Given the description of an element on the screen output the (x, y) to click on. 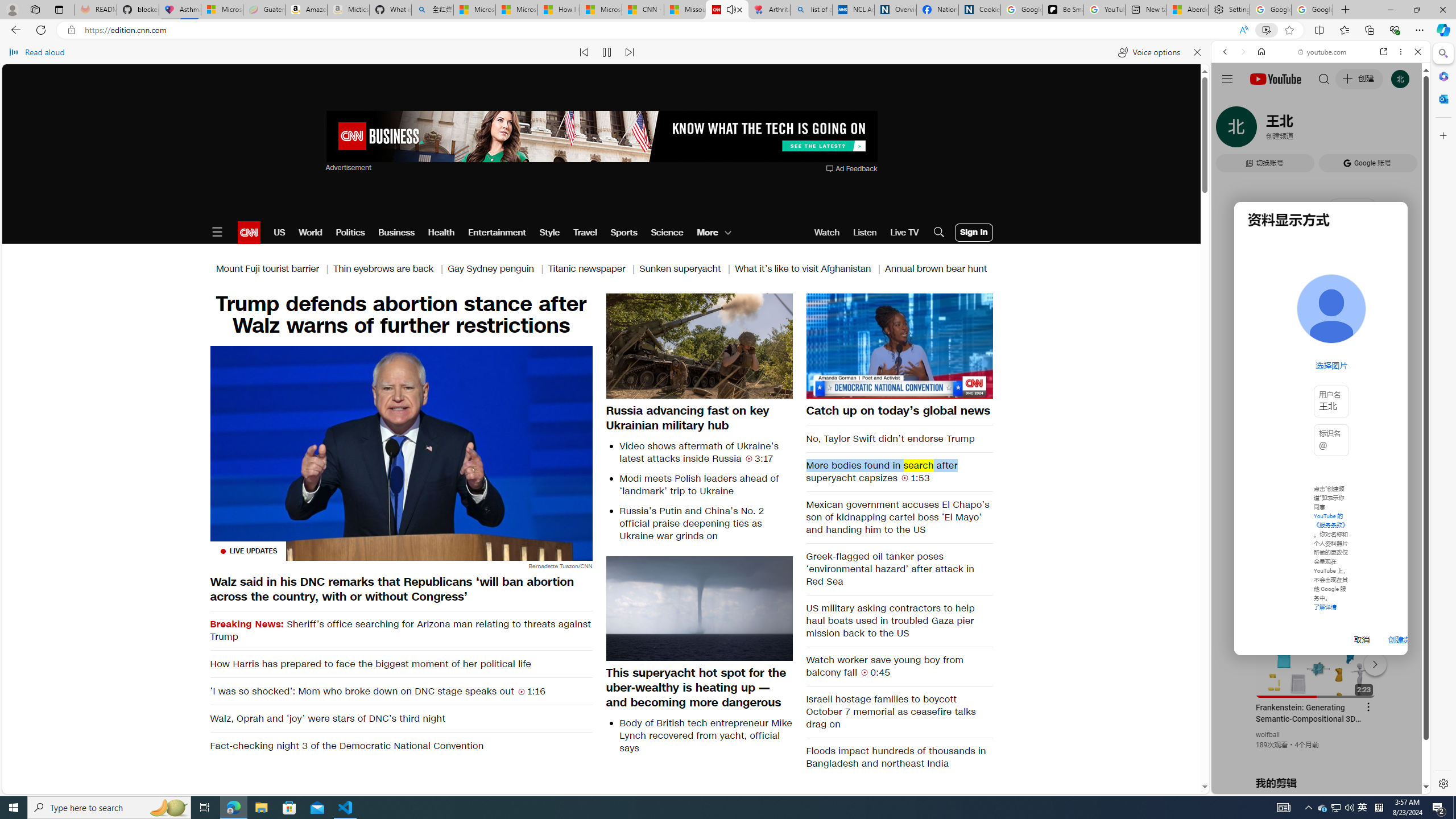
Class: dict_pnIcon rms_img (1312, 784)
Live TV (903, 232)
Captions Unavailable (927, 389)
Watch worker save young boy from balcony fall 0:45 (899, 665)
